Given the description of an element on the screen output the (x, y) to click on. 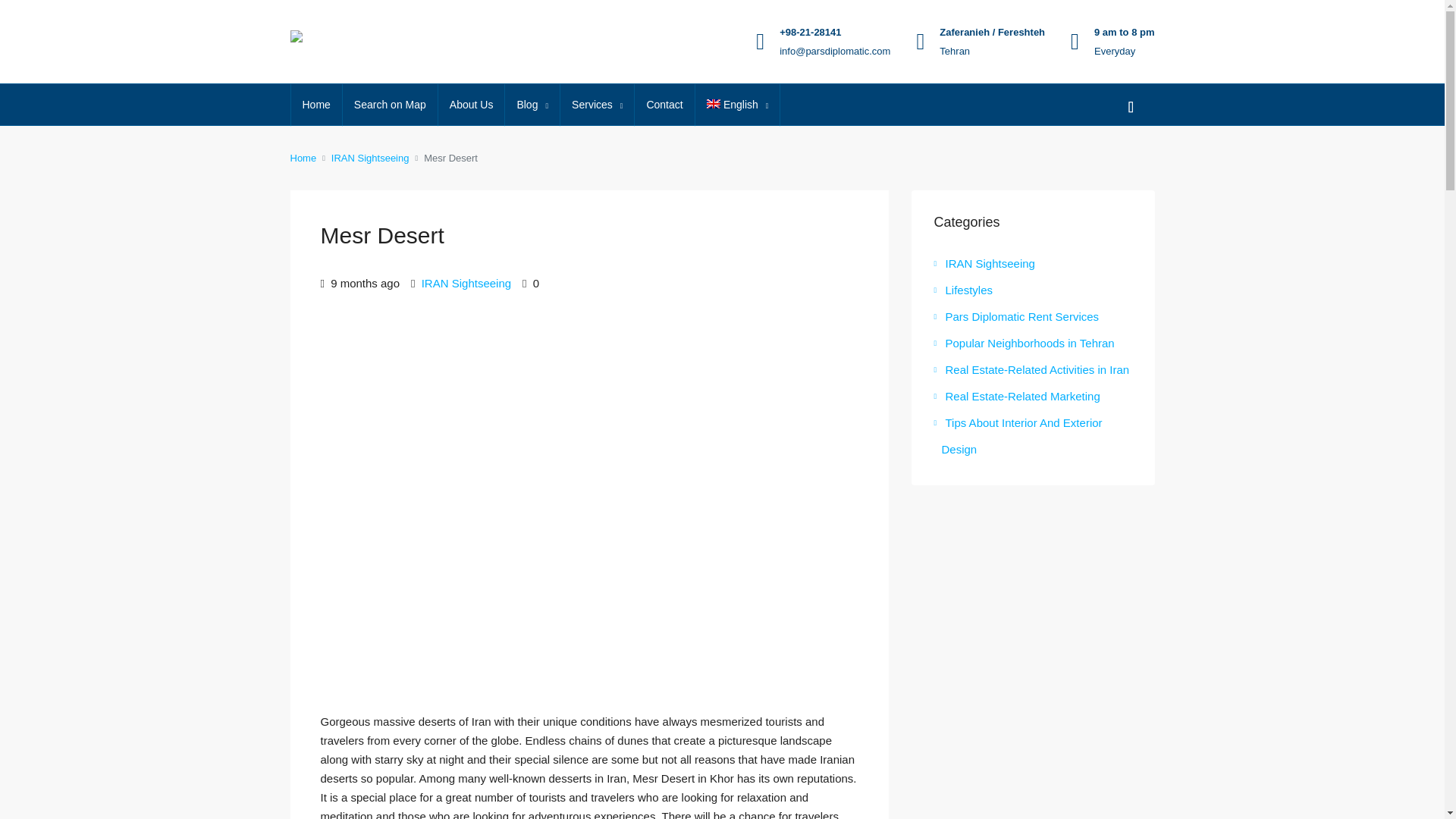
English (737, 105)
Home (316, 104)
Contact (664, 104)
Blog (532, 105)
Services (596, 105)
English (737, 105)
Search on Map (390, 104)
About Us (471, 104)
